Given the description of an element on the screen output the (x, y) to click on. 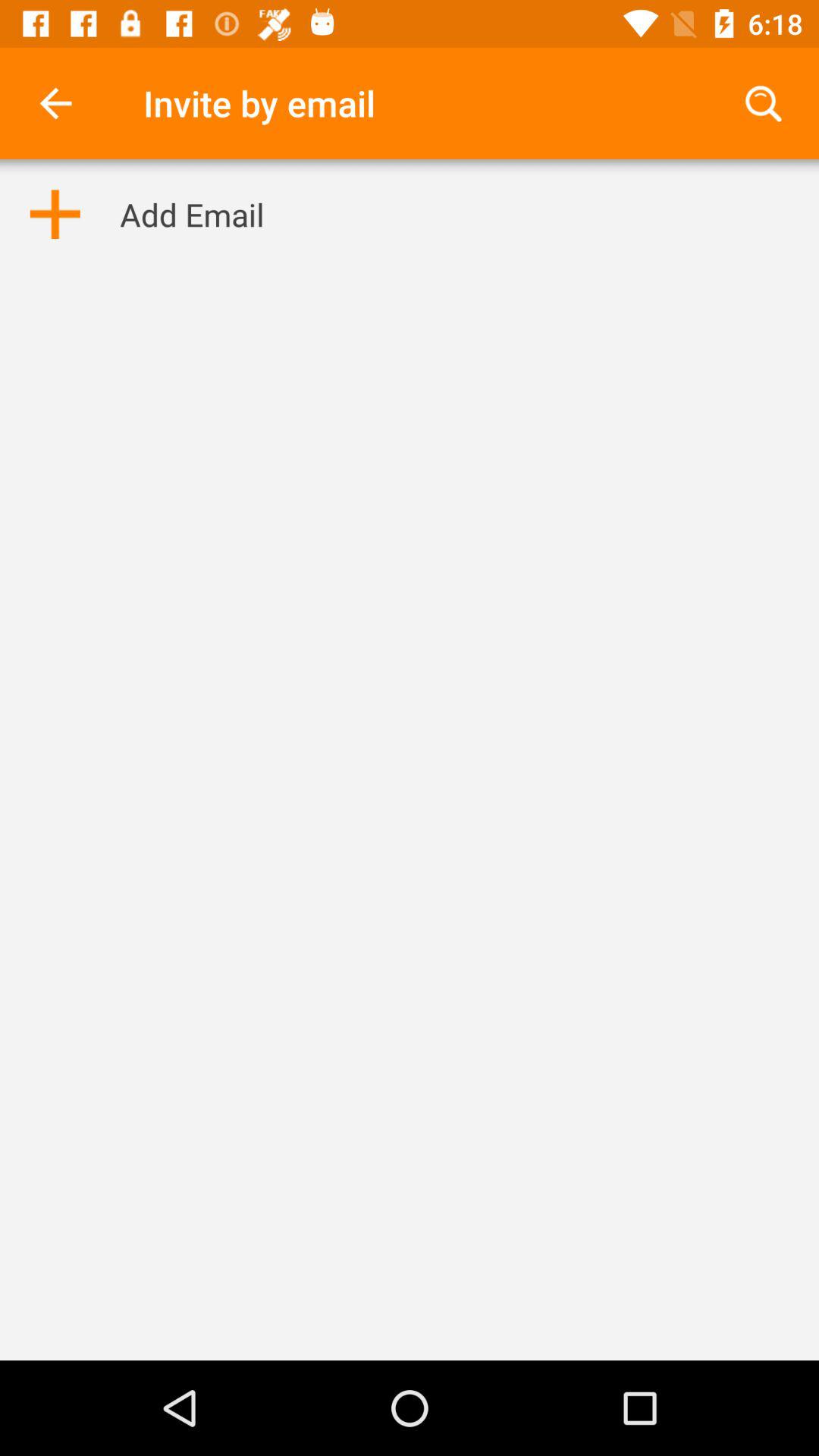
tap icon next to add email (55, 214)
